Given the description of an element on the screen output the (x, y) to click on. 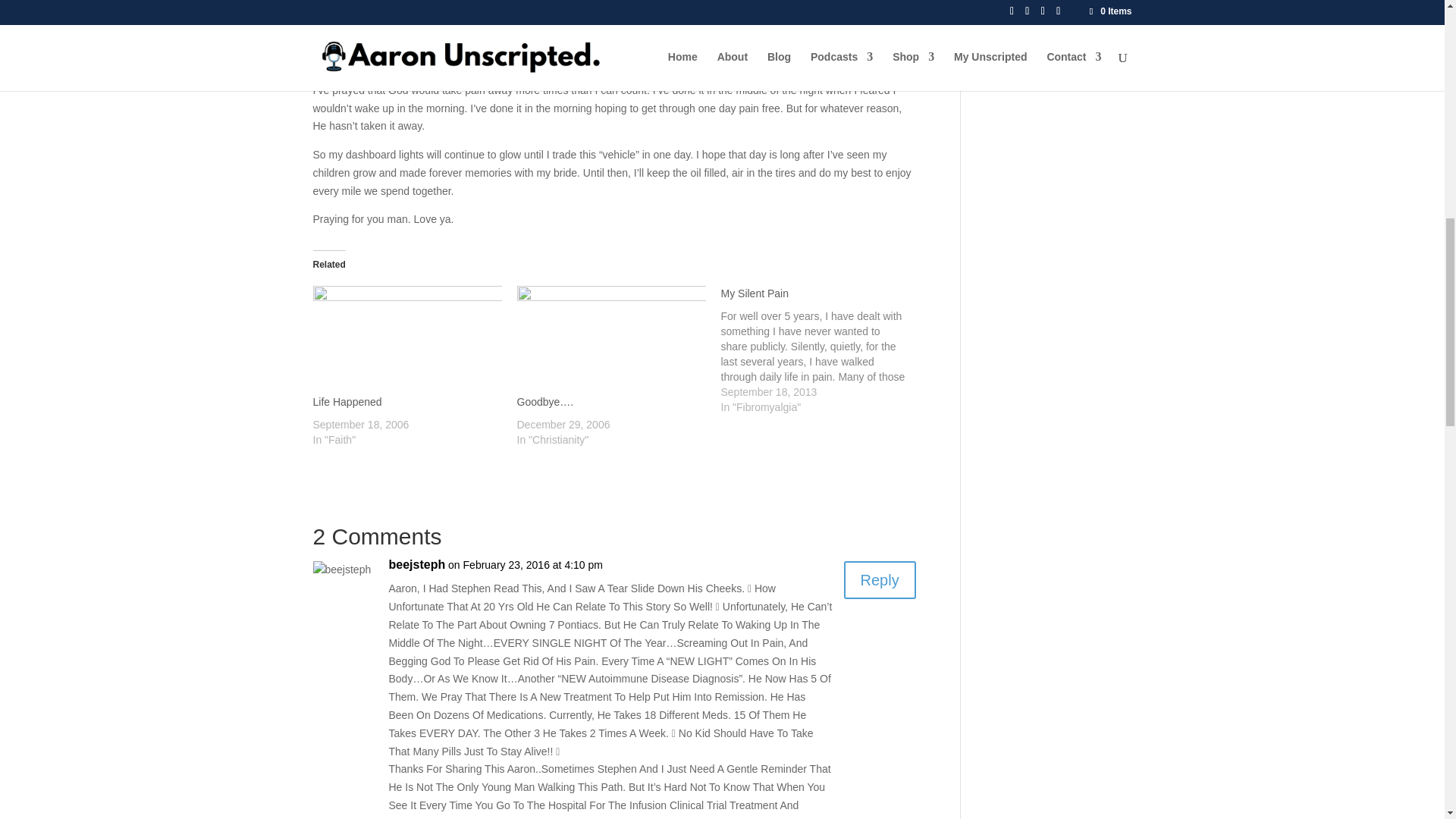
My Silent Pain (753, 293)
My Silent Pain (822, 349)
Life Happened (347, 401)
Life Happened (406, 339)
